Given the description of an element on the screen output the (x, y) to click on. 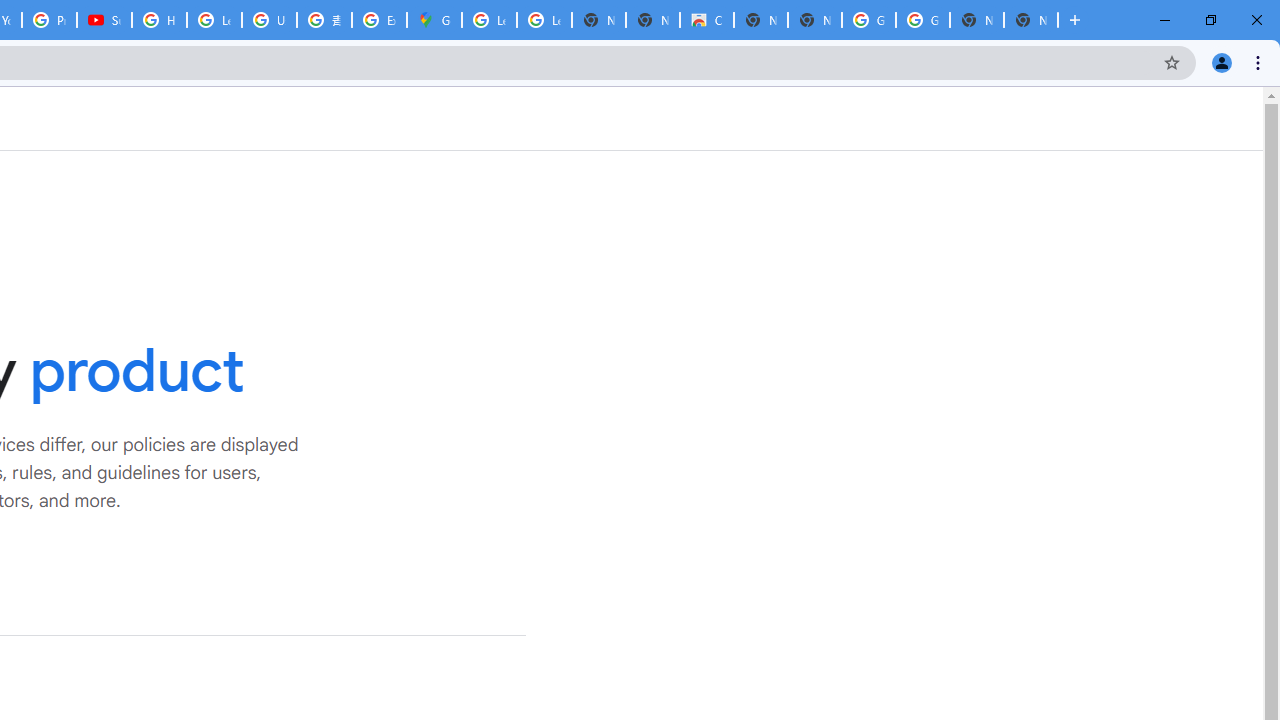
Google Images (922, 20)
Subscriptions - YouTube (103, 20)
New Tab (1030, 20)
Google Images (868, 20)
Google Maps (434, 20)
Chrome Web Store (706, 20)
How Chrome protects your passwords - Google Chrome Help (158, 20)
